Given the description of an element on the screen output the (x, y) to click on. 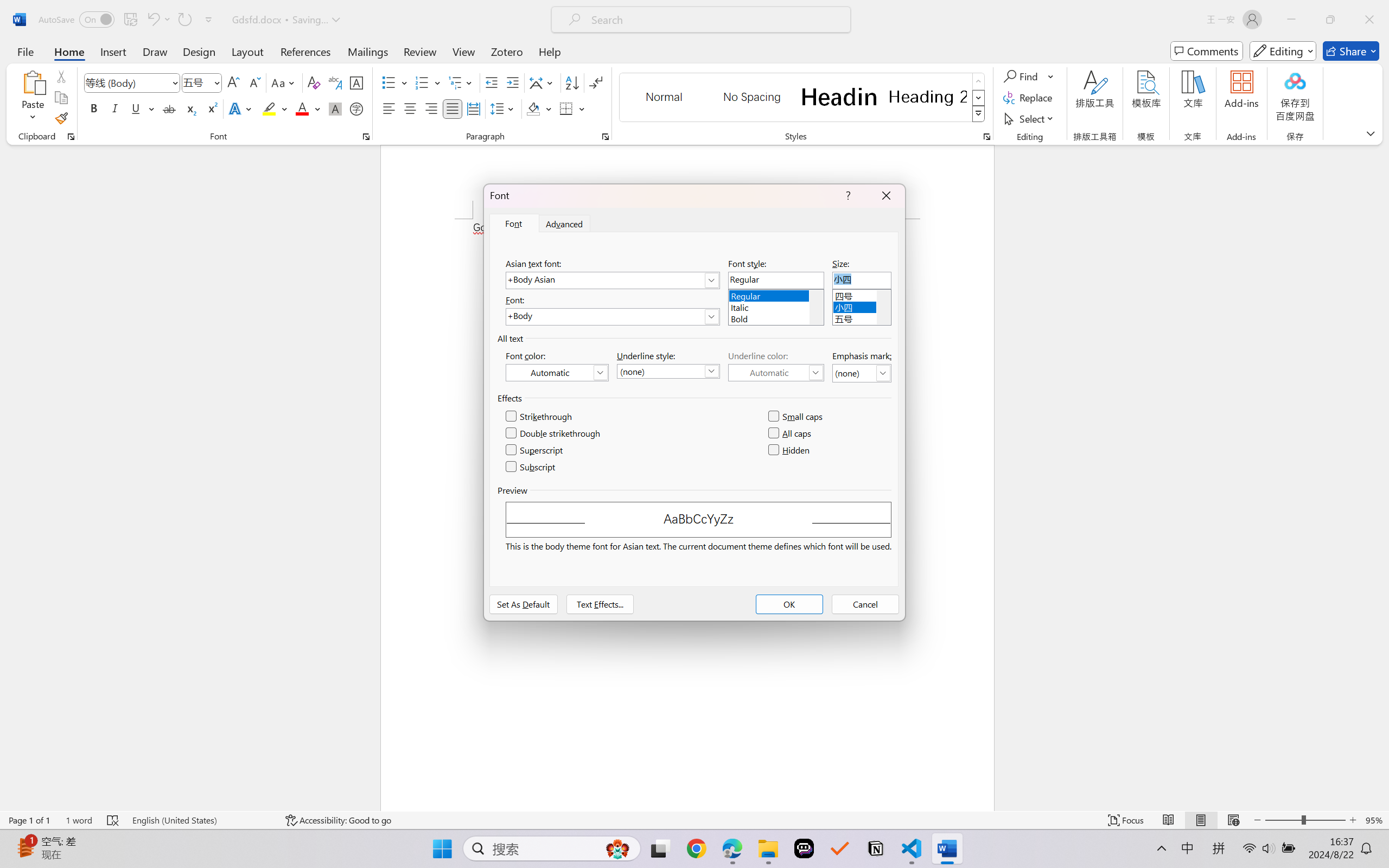
Cut (60, 75)
Multilevel List (461, 82)
Select (1030, 118)
OK (789, 603)
Center (409, 108)
Show/Hide Editing Marks (595, 82)
Styles (978, 113)
Character Border (356, 82)
